Given the description of an element on the screen output the (x, y) to click on. 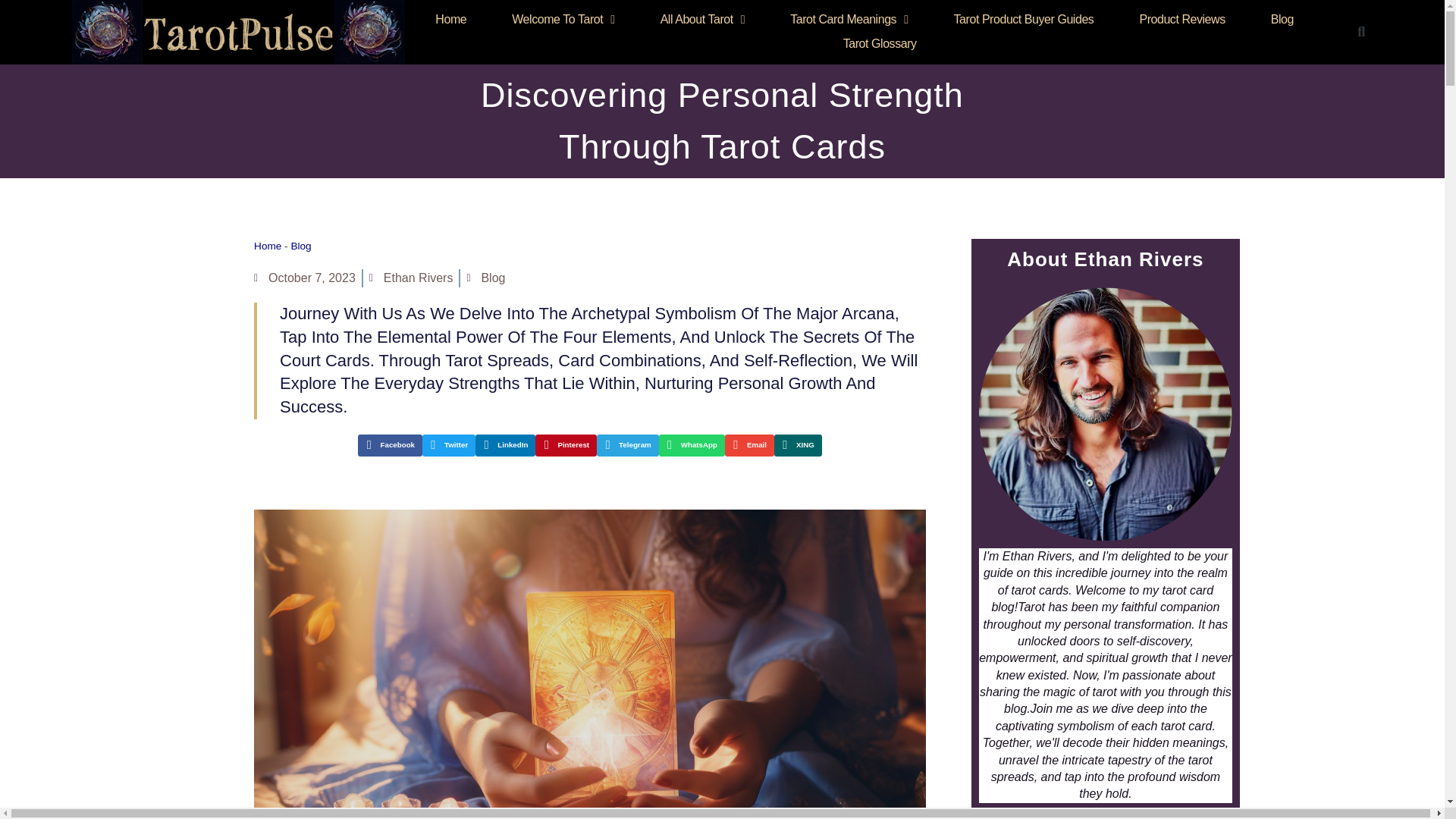
All About Tarot (702, 19)
Welcome To Tarot (562, 19)
Product Reviews (1181, 19)
Tarot Glossary (879, 43)
Blog (1282, 19)
Tarot Product Buyer Guides (1024, 19)
Home (451, 19)
Tarot Card Meanings (849, 19)
